Given the description of an element on the screen output the (x, y) to click on. 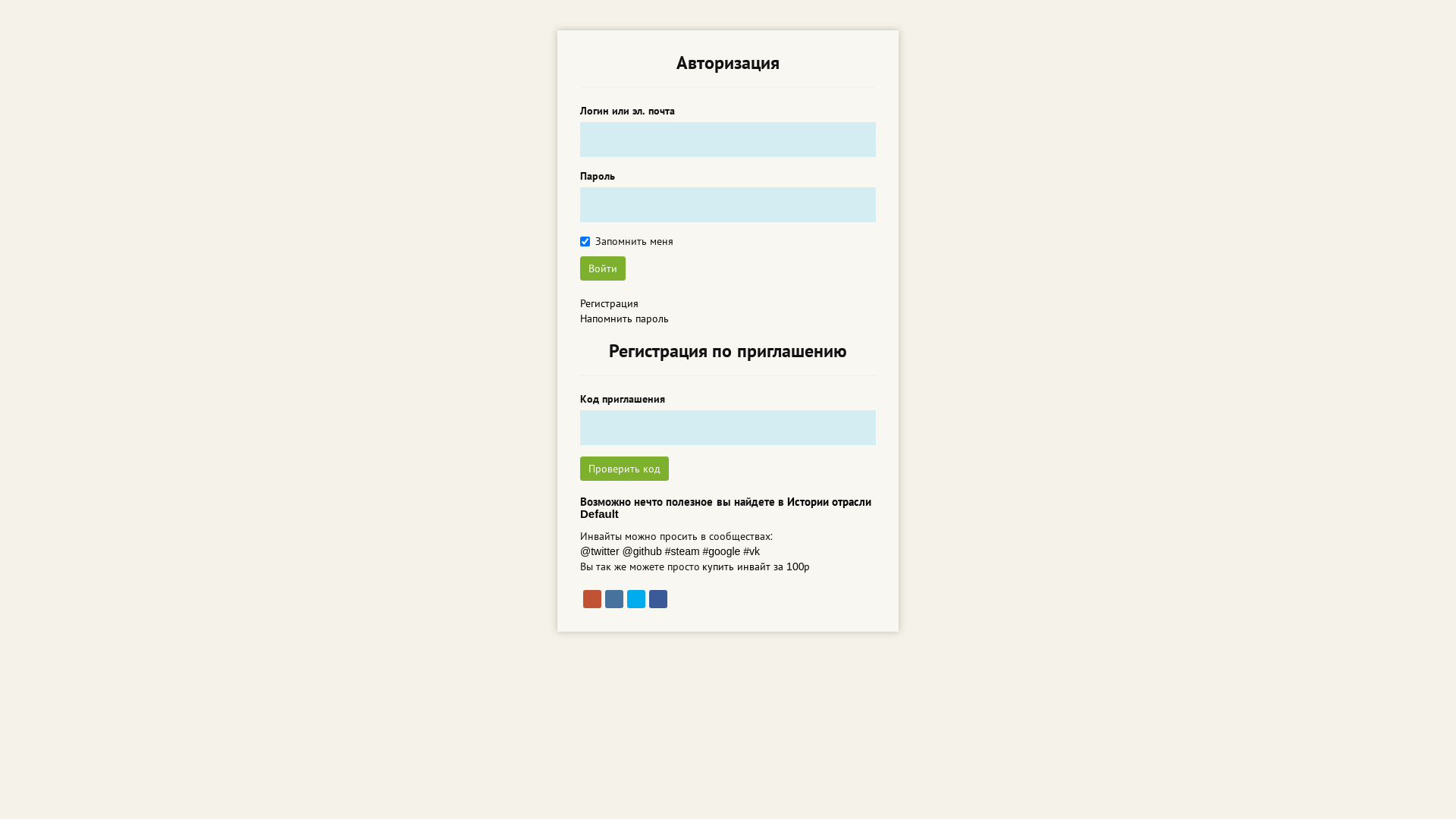
#vk Element type: text (751, 551)
Google Plus Element type: hover (592, 598)
Twitter Element type: hover (636, 598)
Facebook Element type: hover (658, 598)
@twitter Element type: text (599, 551)
#steam Element type: text (682, 551)
#google Element type: text (721, 551)
@github Element type: text (641, 551)
